Given the description of an element on the screen output the (x, y) to click on. 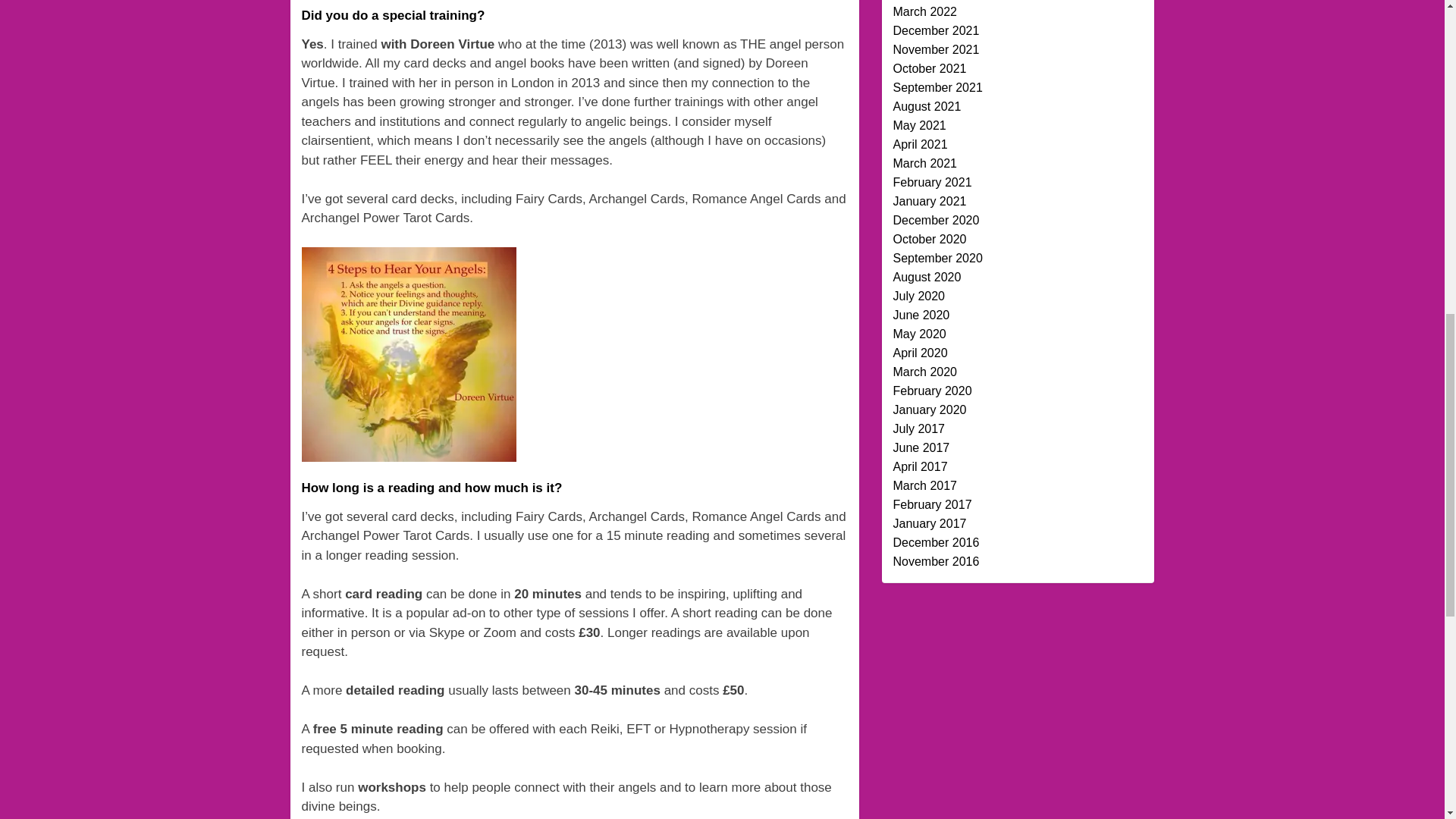
March 2022 (925, 11)
September 2021 (937, 87)
March 2021 (925, 163)
October 2021 (929, 68)
August 2021 (926, 106)
October 2020 (929, 238)
May 2021 (919, 124)
December 2021 (936, 30)
February 2021 (932, 182)
April 2021 (920, 144)
December 2020 (936, 219)
November 2021 (936, 49)
January 2021 (929, 201)
